Given the description of an element on the screen output the (x, y) to click on. 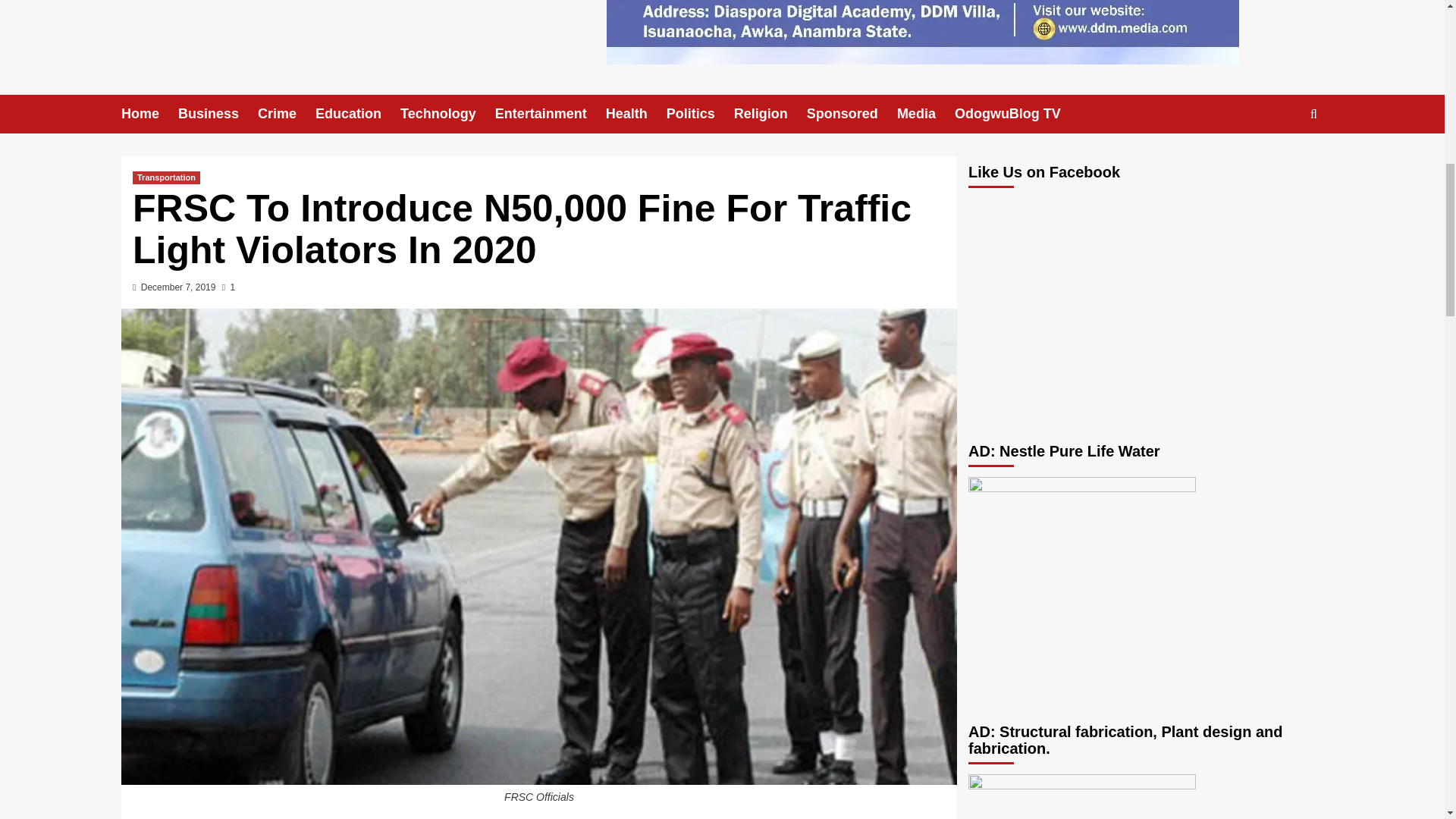
Politics (699, 114)
Business (217, 114)
Entertainment (550, 114)
1 (228, 286)
Home (148, 114)
Search (1278, 161)
Education (357, 114)
Health (635, 114)
Technology (447, 114)
Transportation (166, 177)
Sponsored (851, 114)
Crime (286, 114)
Religion (769, 114)
December 7, 2019 (178, 286)
OdogwuBlog TV (1017, 114)
